Given the description of an element on the screen output the (x, y) to click on. 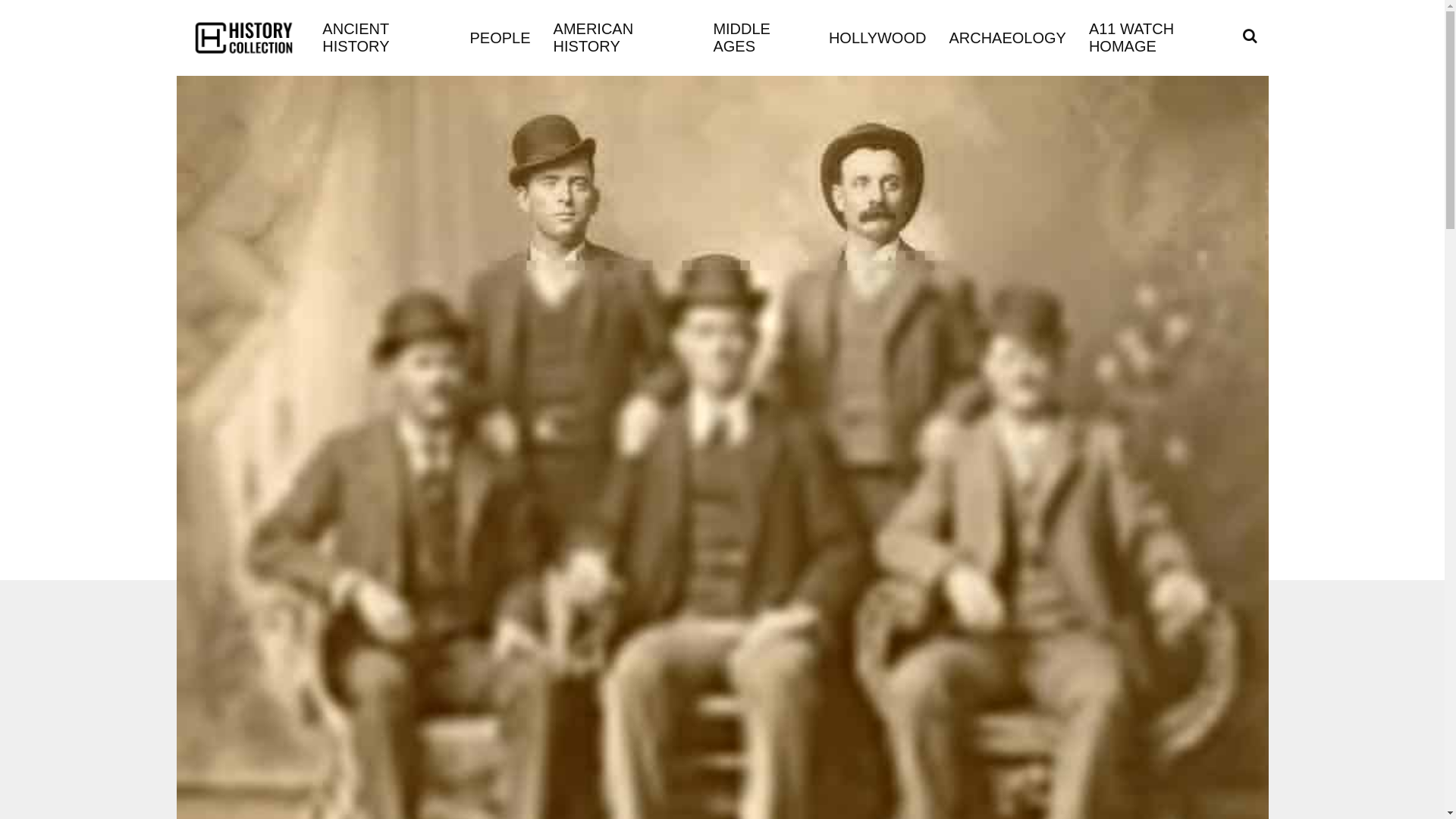
MIDDLE AGES (758, 37)
ARCHAEOLOGY (1006, 36)
HOLLYWOOD (877, 36)
PEOPLE (500, 36)
AMERICAN HISTORY (622, 37)
ANCIENT HISTORY (384, 37)
A11 WATCH HOMAGE (1160, 37)
